Given the description of an element on the screen output the (x, y) to click on. 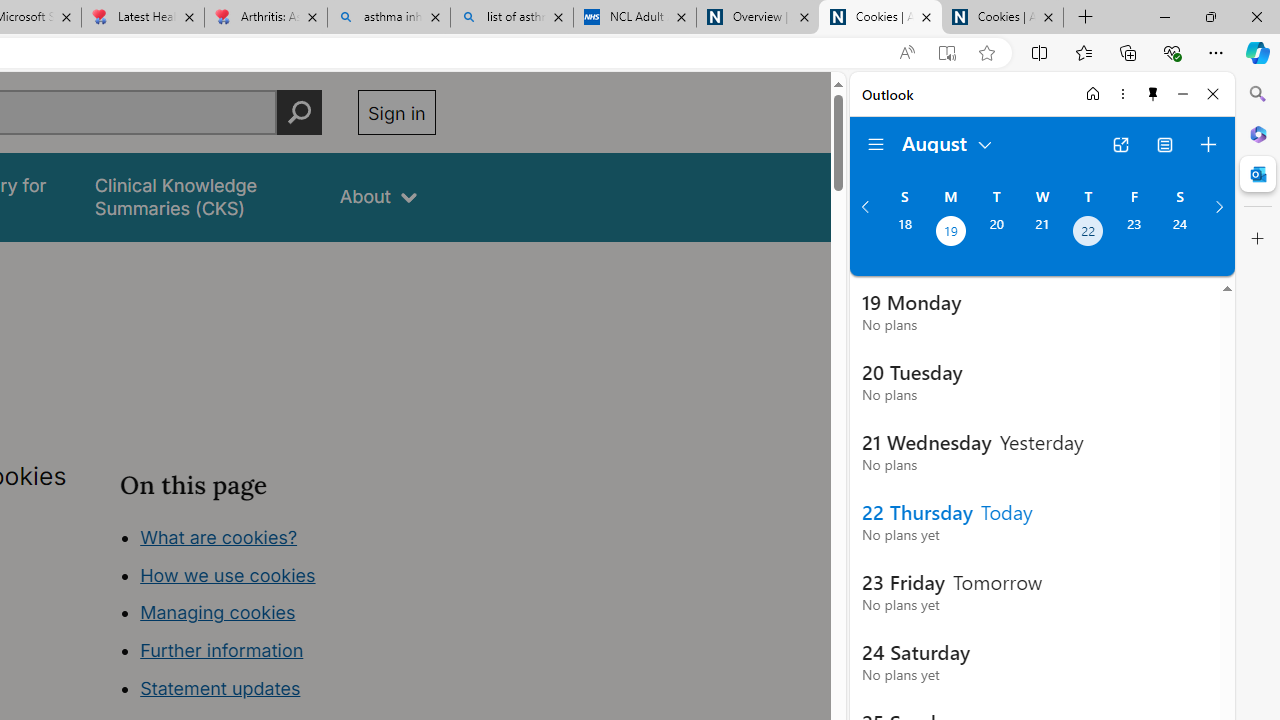
How we use cookies (227, 574)
Friday, August 23, 2024.  (1134, 233)
Folder navigation (876, 144)
list of asthma inhalers uk - Search (511, 17)
Wednesday, August 21, 2024.  (1042, 233)
Saturday, August 24, 2024.  (1180, 233)
Monday, August 19, 2024. Date selected.  (950, 233)
Sunday, August 18, 2024.  (904, 233)
Create event (1208, 144)
NCL Adult Asthma Inhaler Choice Guideline (634, 17)
